Given the description of an element on the screen output the (x, y) to click on. 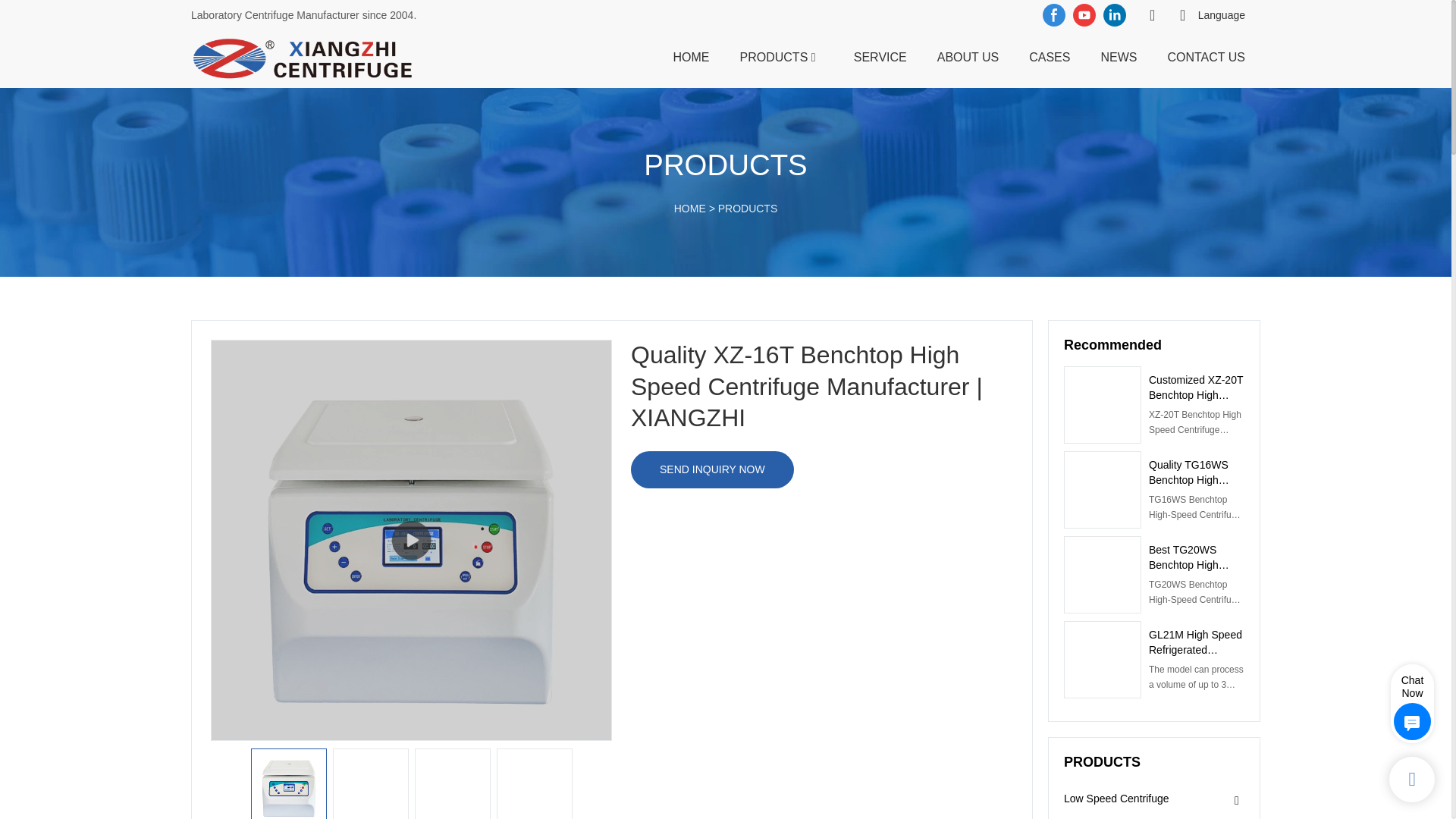
CONTACT US (1205, 56)
SERVICE (880, 56)
HOME (691, 56)
linkedin (1114, 15)
youtube (1083, 15)
PRODUCTS (773, 56)
CASES (1049, 56)
ABOUT US (967, 56)
HOME (690, 208)
facebook (1053, 15)
PRODUCTS (747, 208)
NEWS (1118, 56)
